Given the description of an element on the screen output the (x, y) to click on. 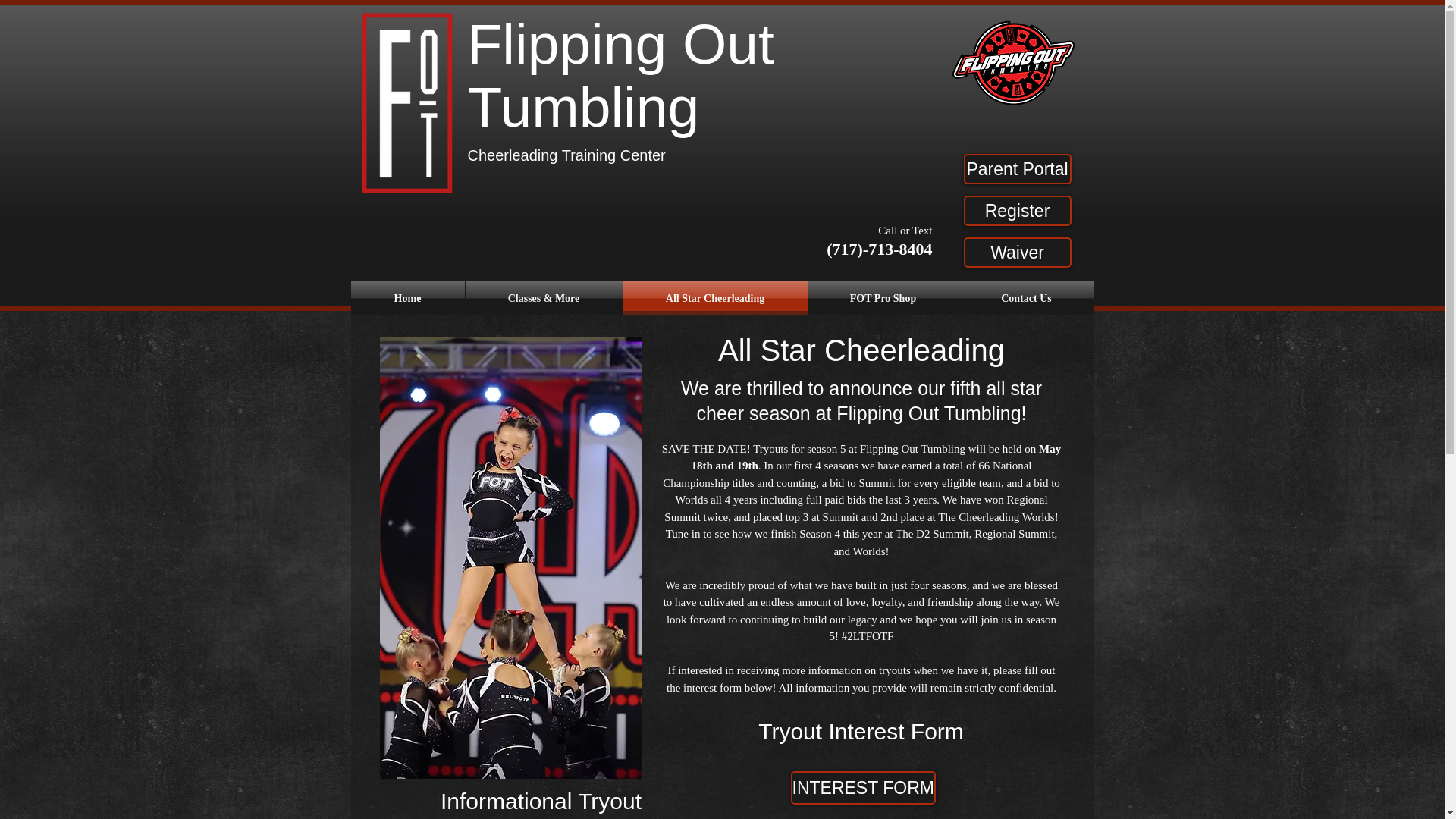
Waiver (1016, 252)
Cheerleading Training Center (566, 155)
Flipping Out Tumbling (620, 75)
Parent Portal (1016, 168)
All Star Cheerleading (715, 298)
INTEREST FORM (862, 787)
Contact Us (1025, 298)
Register (1016, 210)
Home (407, 298)
FOT Pro Shop (883, 298)
